Given the description of an element on the screen output the (x, y) to click on. 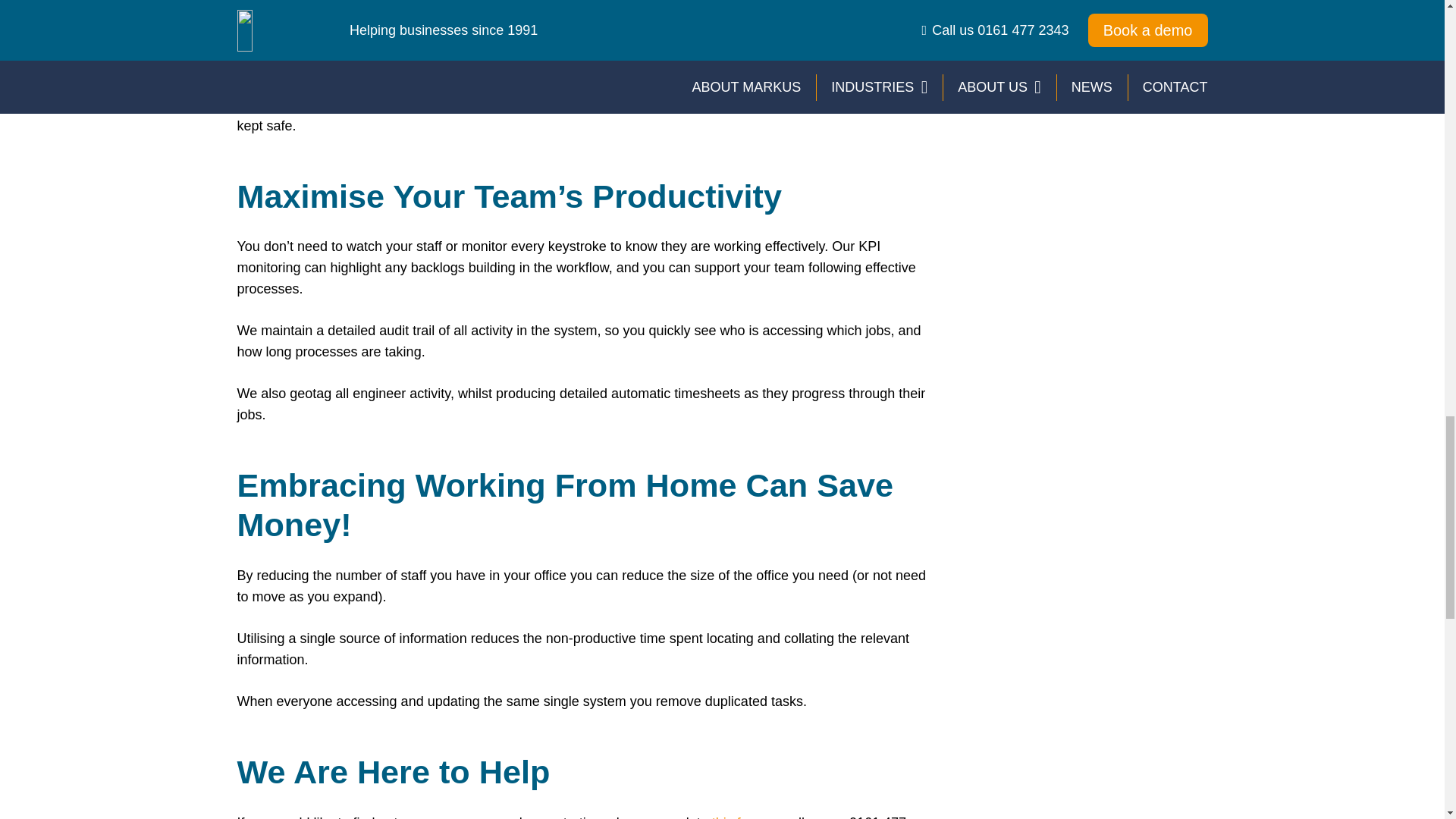
this form (737, 816)
